Given the description of an element on the screen output the (x, y) to click on. 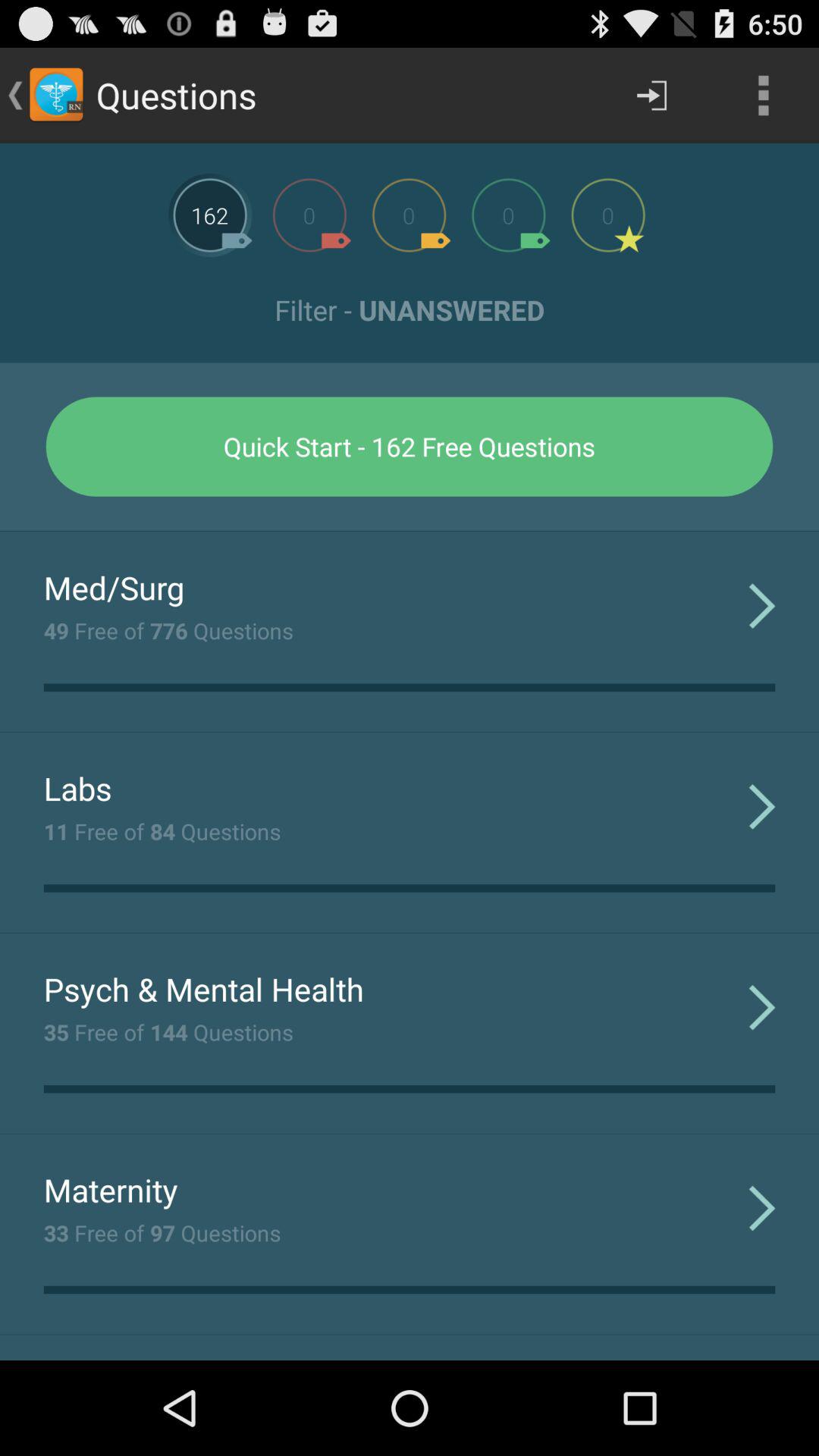
choose item above the 49 free of icon (113, 587)
